Given the description of an element on the screen output the (x, y) to click on. 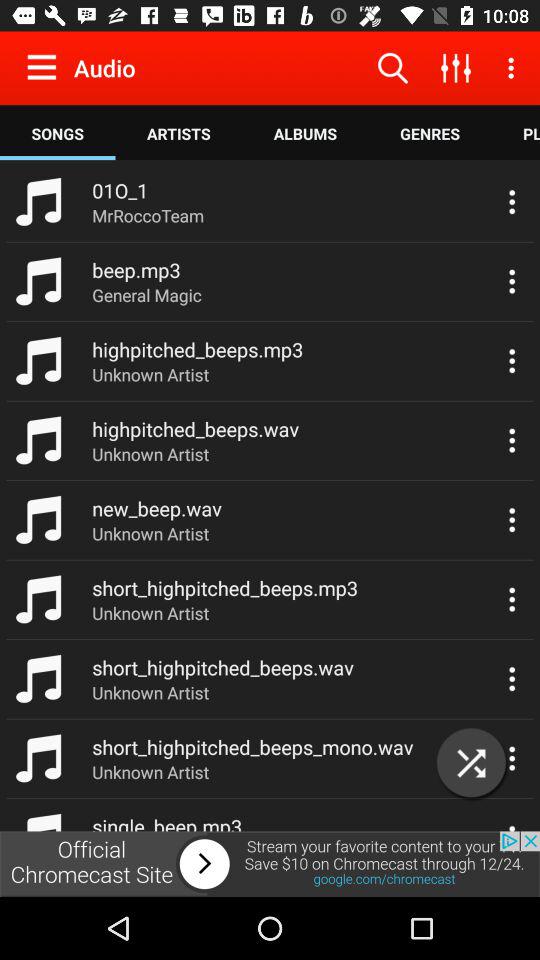
go to advertisement (270, 864)
